Given the description of an element on the screen output the (x, y) to click on. 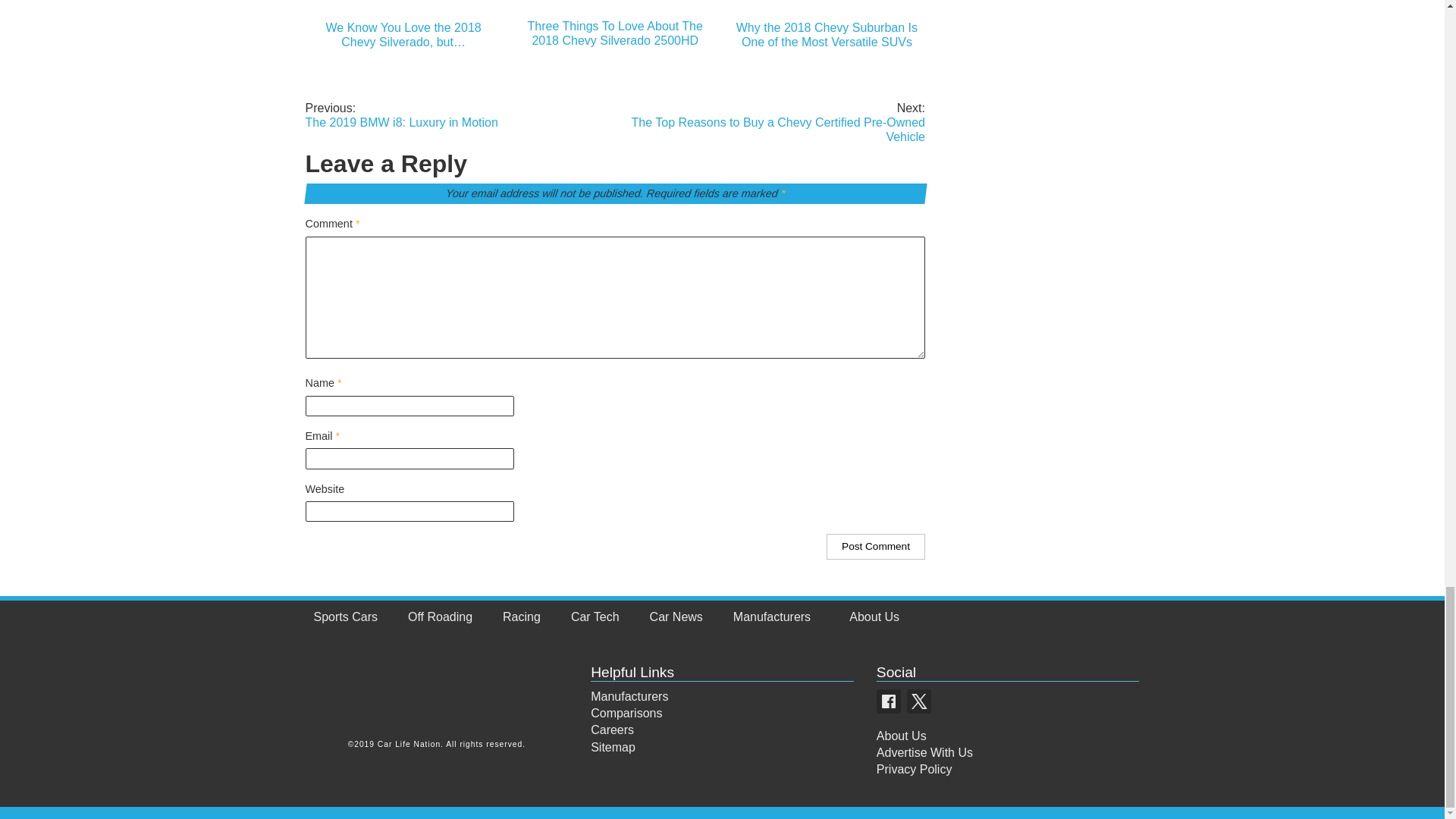
Car Life Nation Facebook (888, 701)
Car Life Nation Twitter (919, 701)
Post Comment (875, 545)
